Given the description of an element on the screen output the (x, y) to click on. 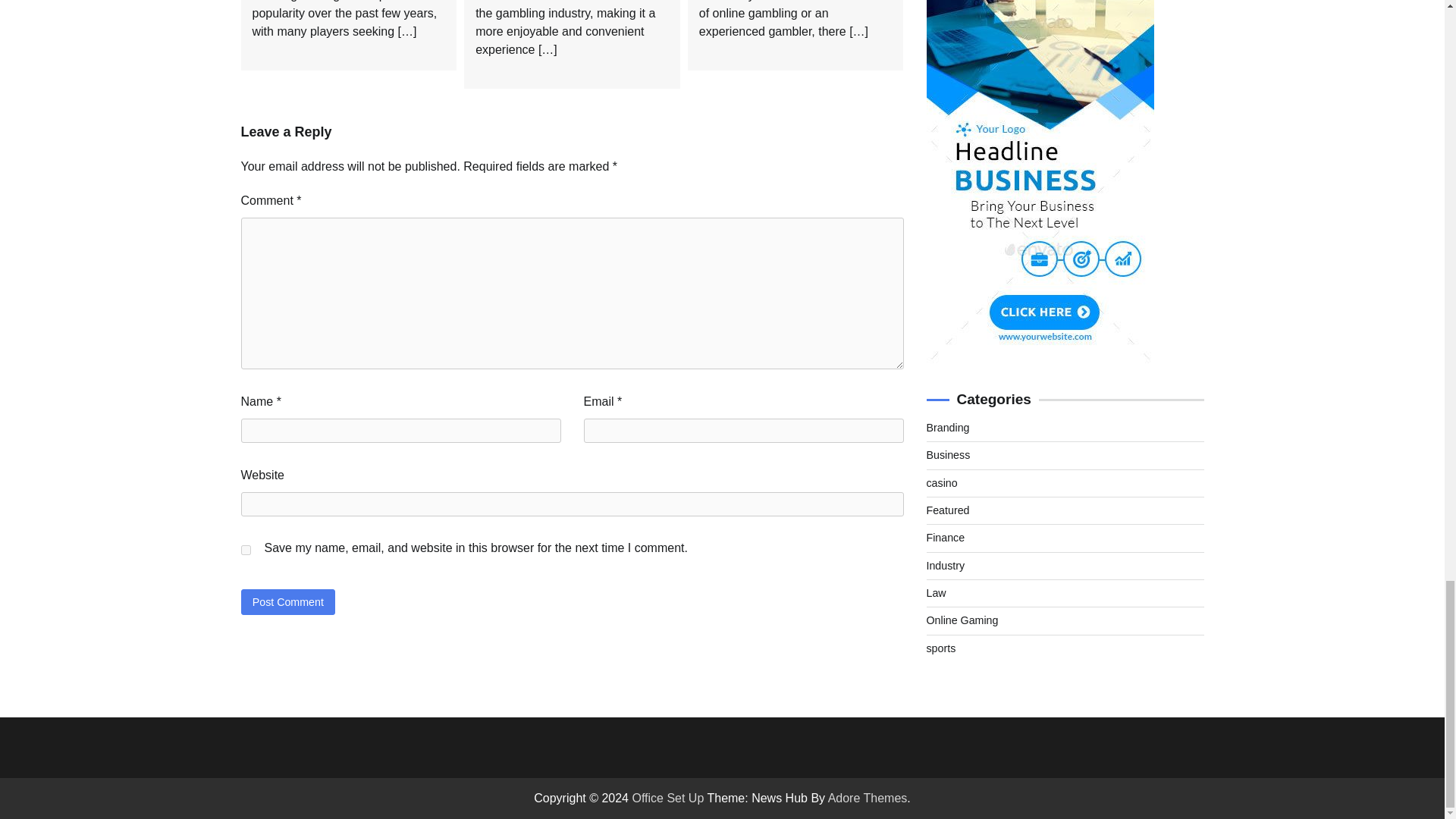
Post Comment (288, 601)
Post Comment (288, 601)
yes (245, 550)
